Given the description of an element on the screen output the (x, y) to click on. 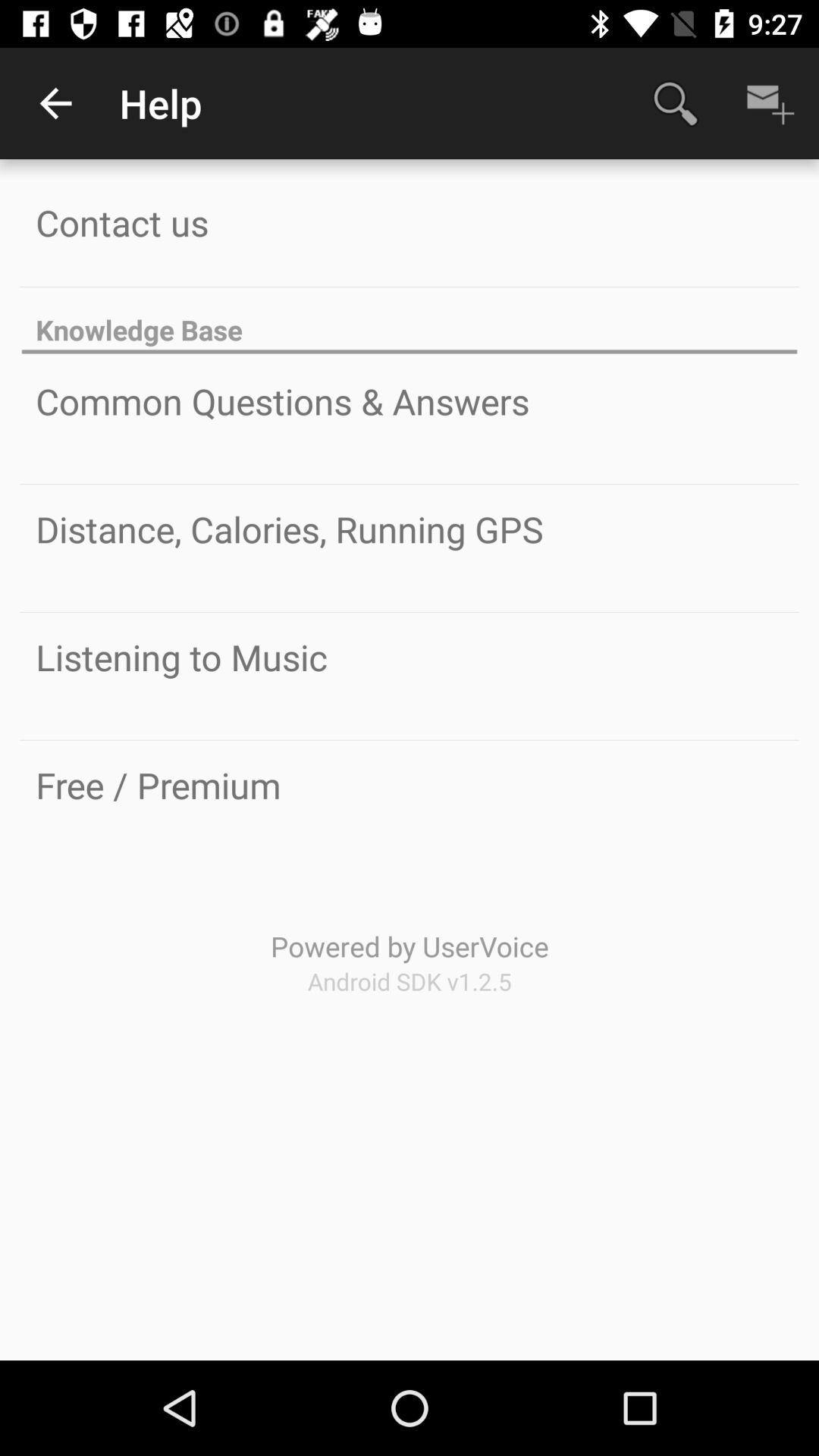
turn on the icon above the common questions & answers (409, 321)
